Given the description of an element on the screen output the (x, y) to click on. 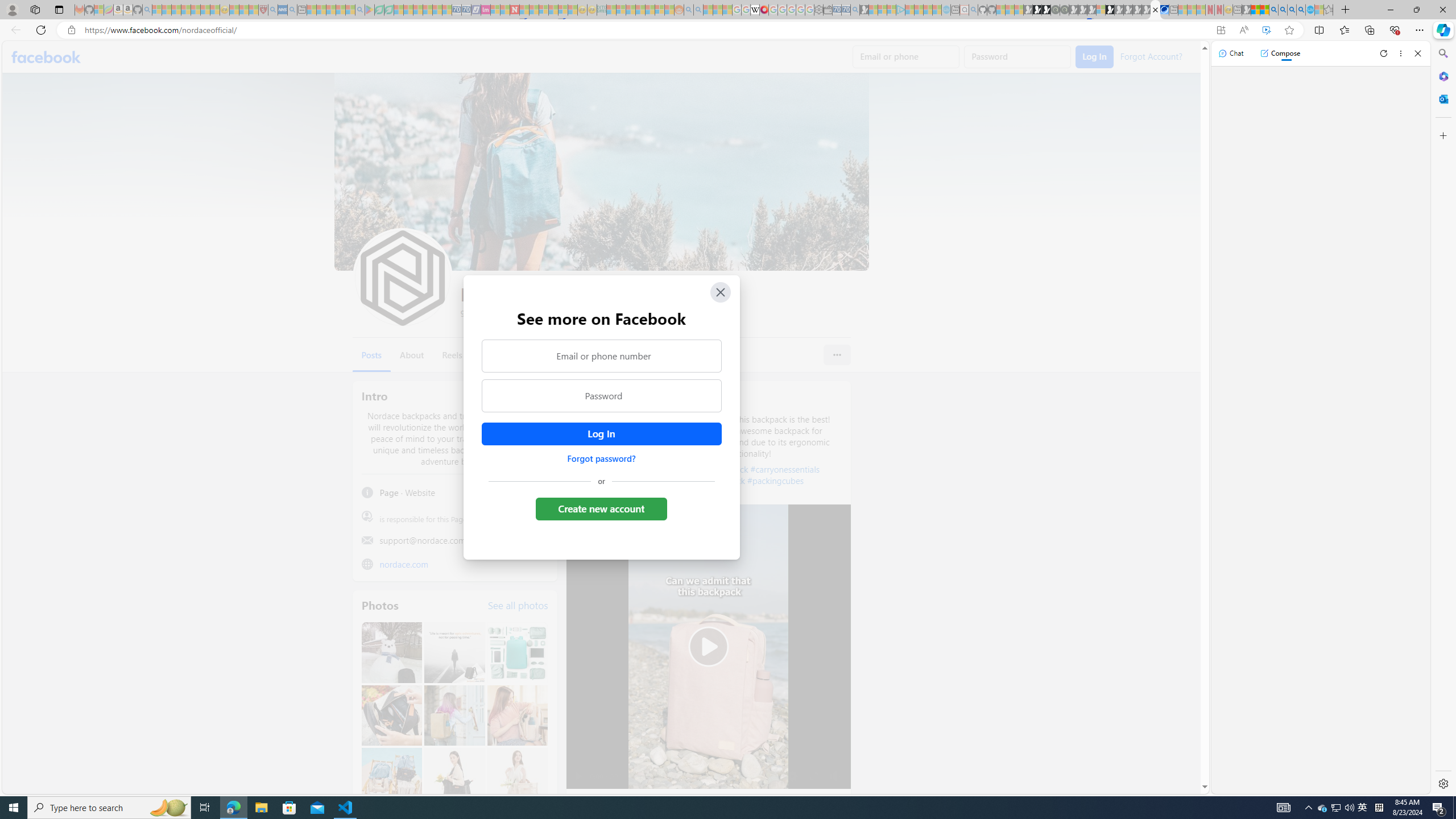
Accessible login button (601, 433)
Future Focus Report 2024 - Sleeping (1064, 9)
